Given the description of an element on the screen output the (x, y) to click on. 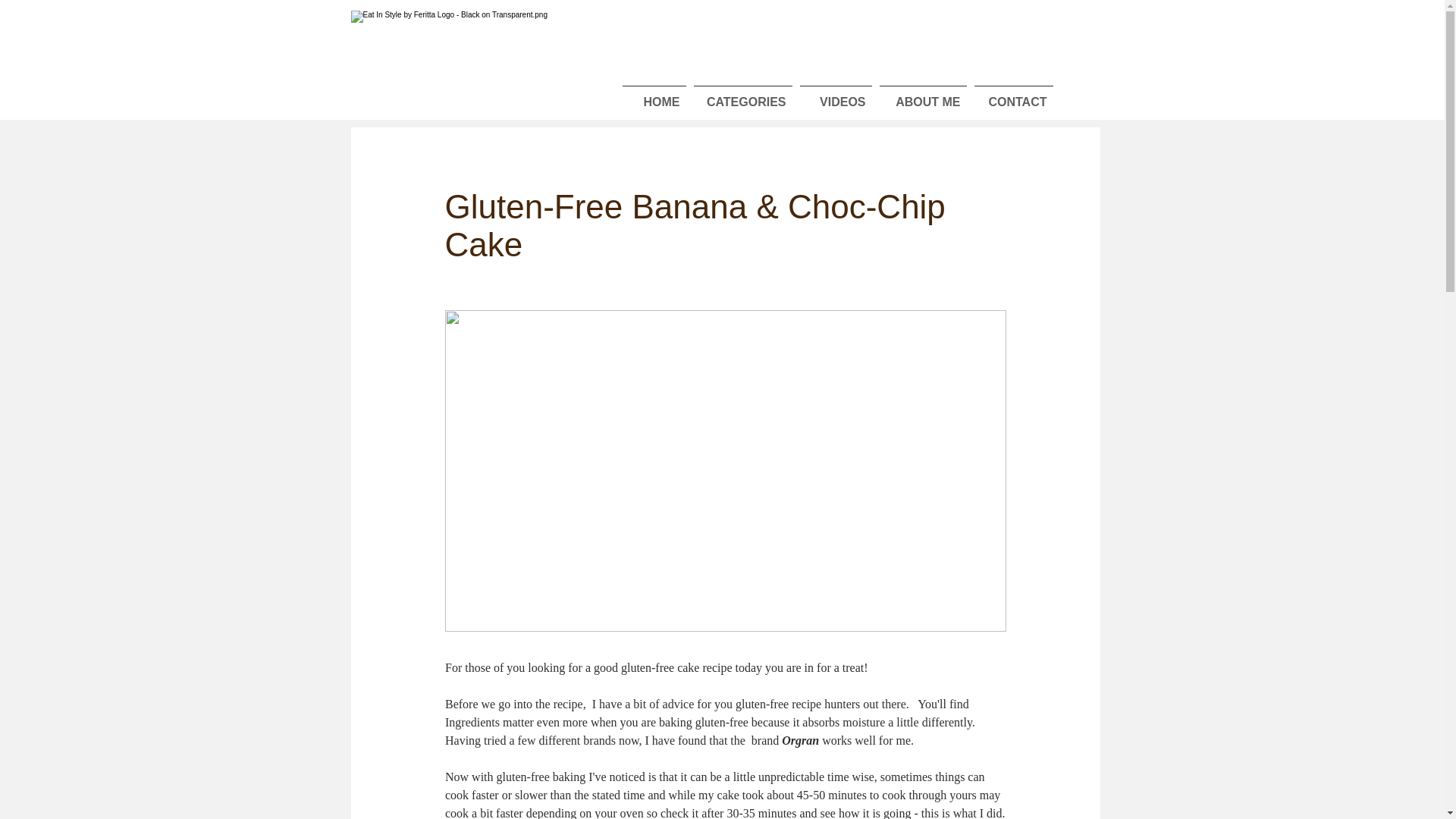
HOME (654, 94)
VIDEOS (836, 94)
CONTACT (1014, 94)
ABOUT ME (922, 94)
